Given the description of an element on the screen output the (x, y) to click on. 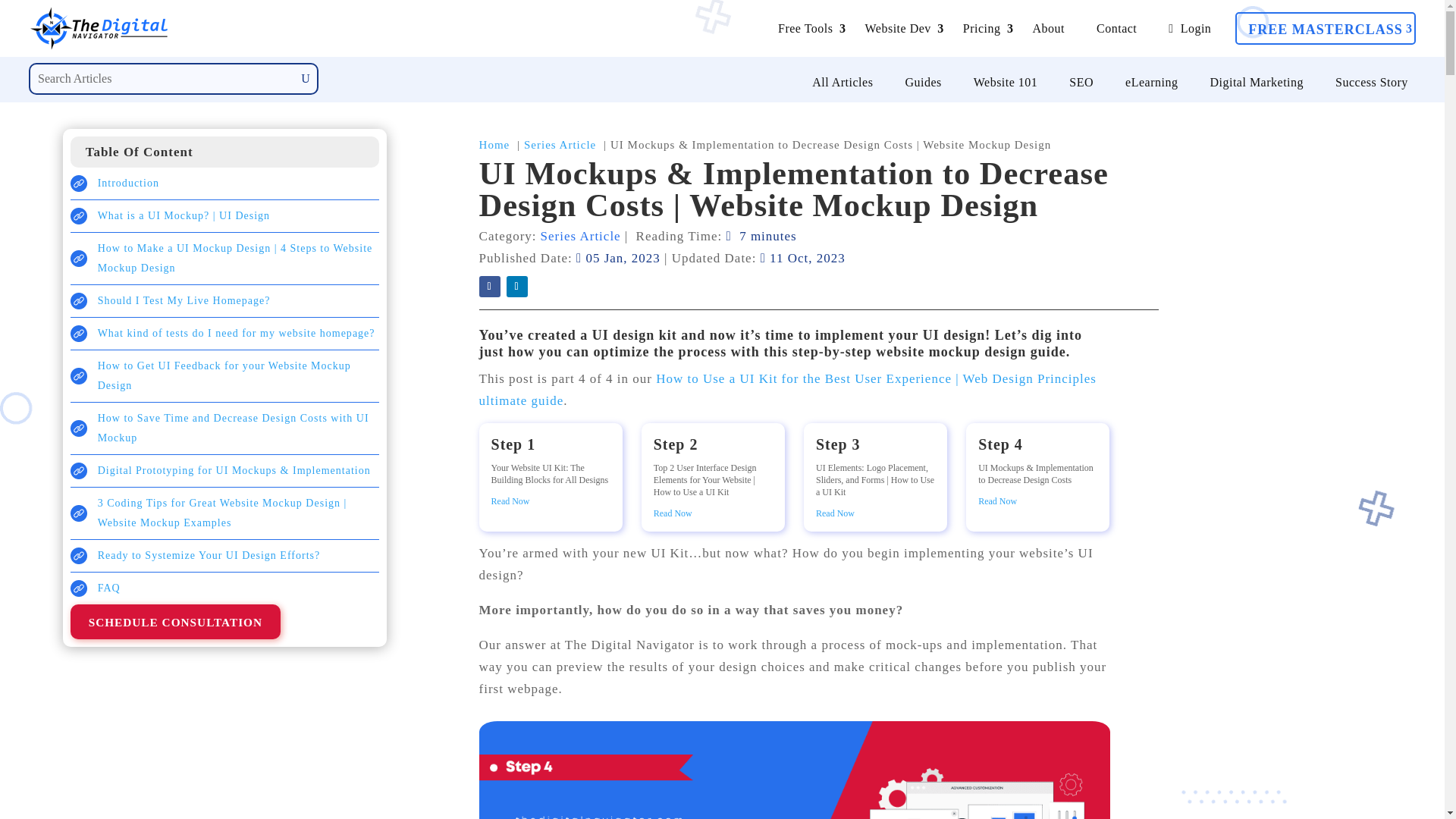
SEO (1080, 82)
All Articles (842, 82)
  Login (1189, 28)
Free Tools (805, 28)
Introduction (127, 183)
Contact (1116, 28)
Follow on Facebook (489, 286)
About (1049, 28)
Pricing (982, 28)
Success Story (1371, 82)
